Given the description of an element on the screen output the (x, y) to click on. 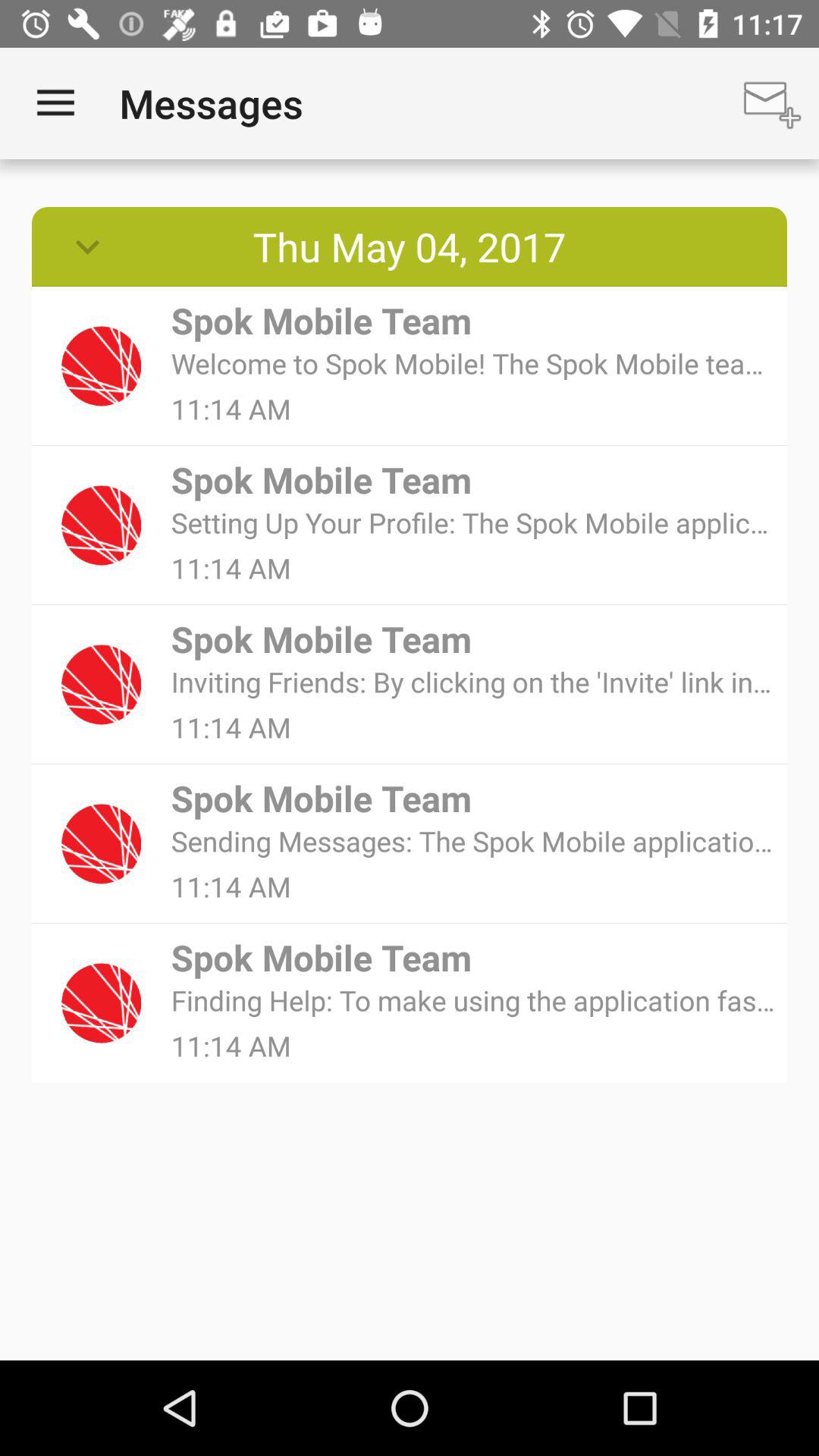
press the icon above the 11:14 am icon (473, 522)
